Given the description of an element on the screen output the (x, y) to click on. 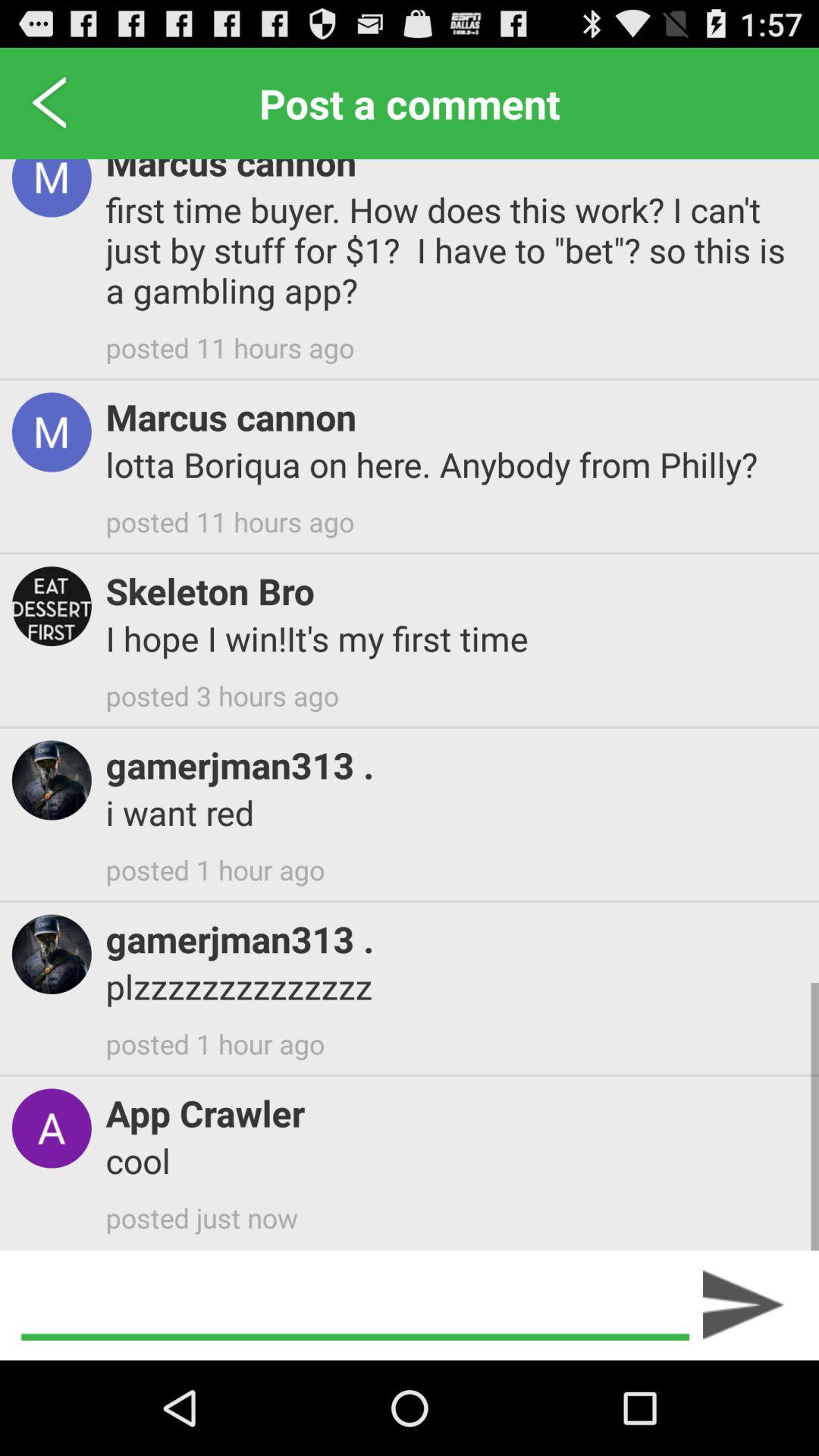
click item next to marcus cannon item (49, 102)
